Given the description of an element on the screen output the (x, y) to click on. 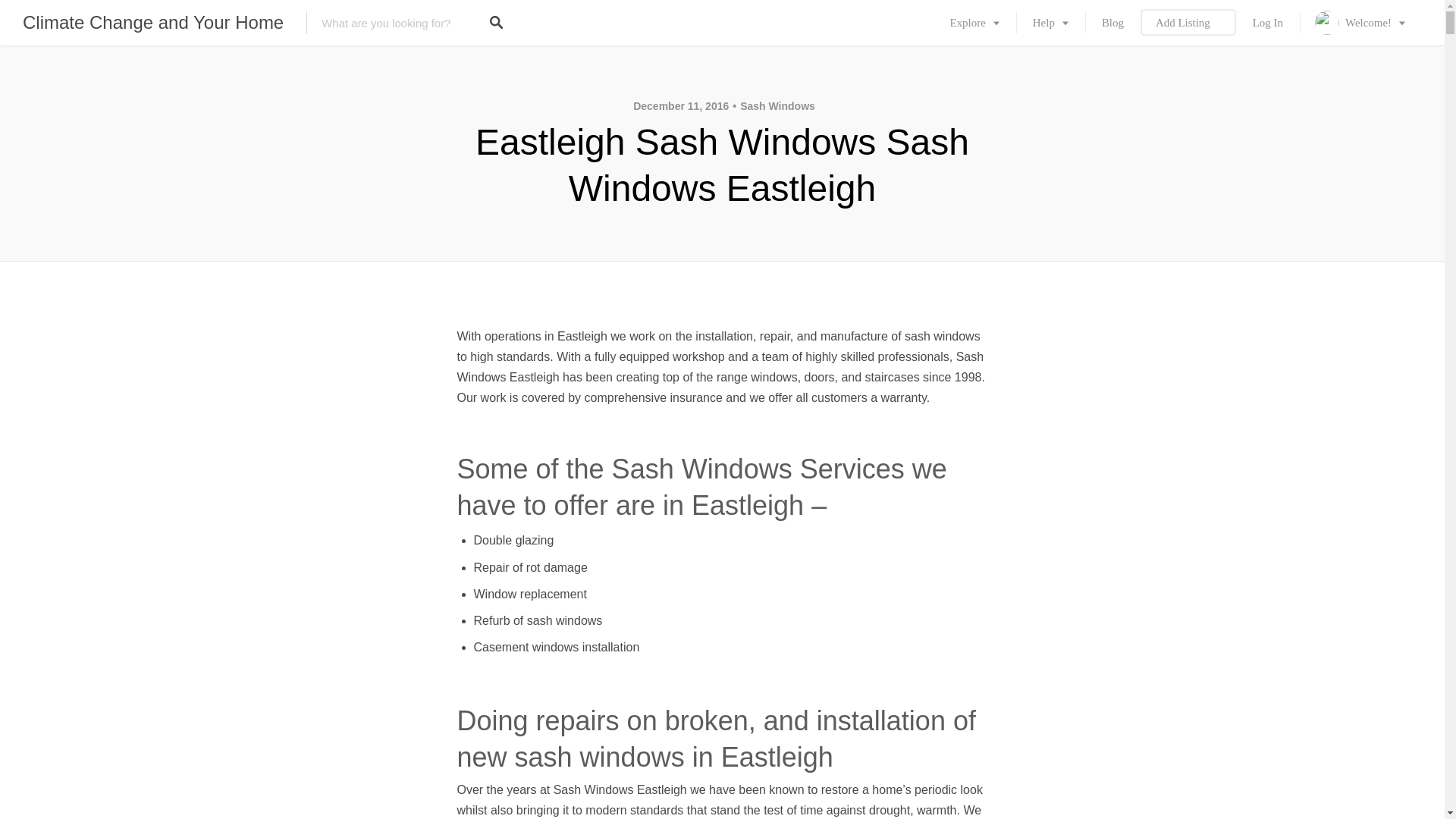
Help (1050, 22)
Climate Change and Your Home (153, 22)
Blog (1112, 22)
Add Listing (1187, 22)
Explore (974, 22)
